Given the description of an element on the screen output the (x, y) to click on. 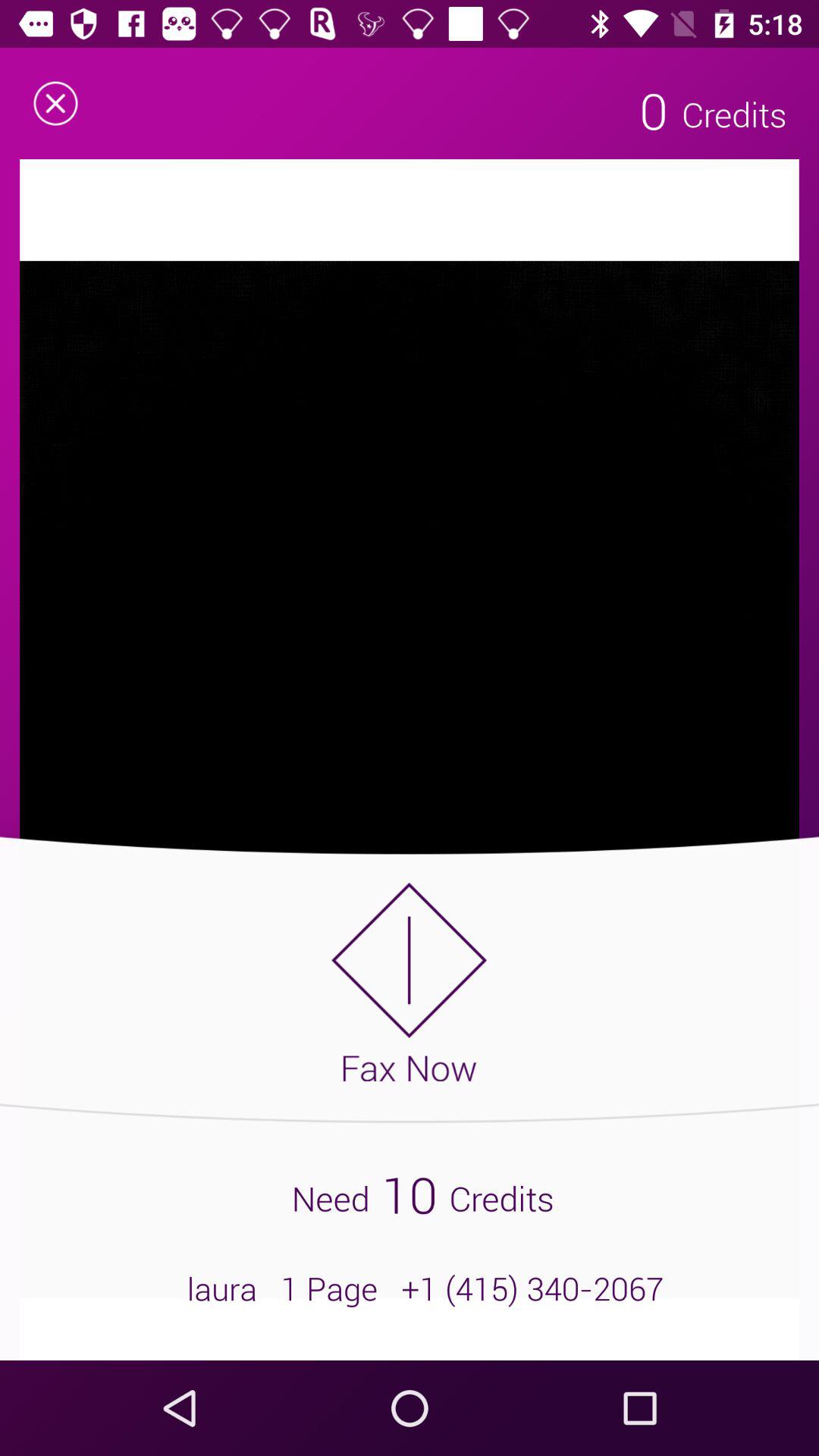
press the app next to the 0 item (55, 103)
